Given the description of an element on the screen output the (x, y) to click on. 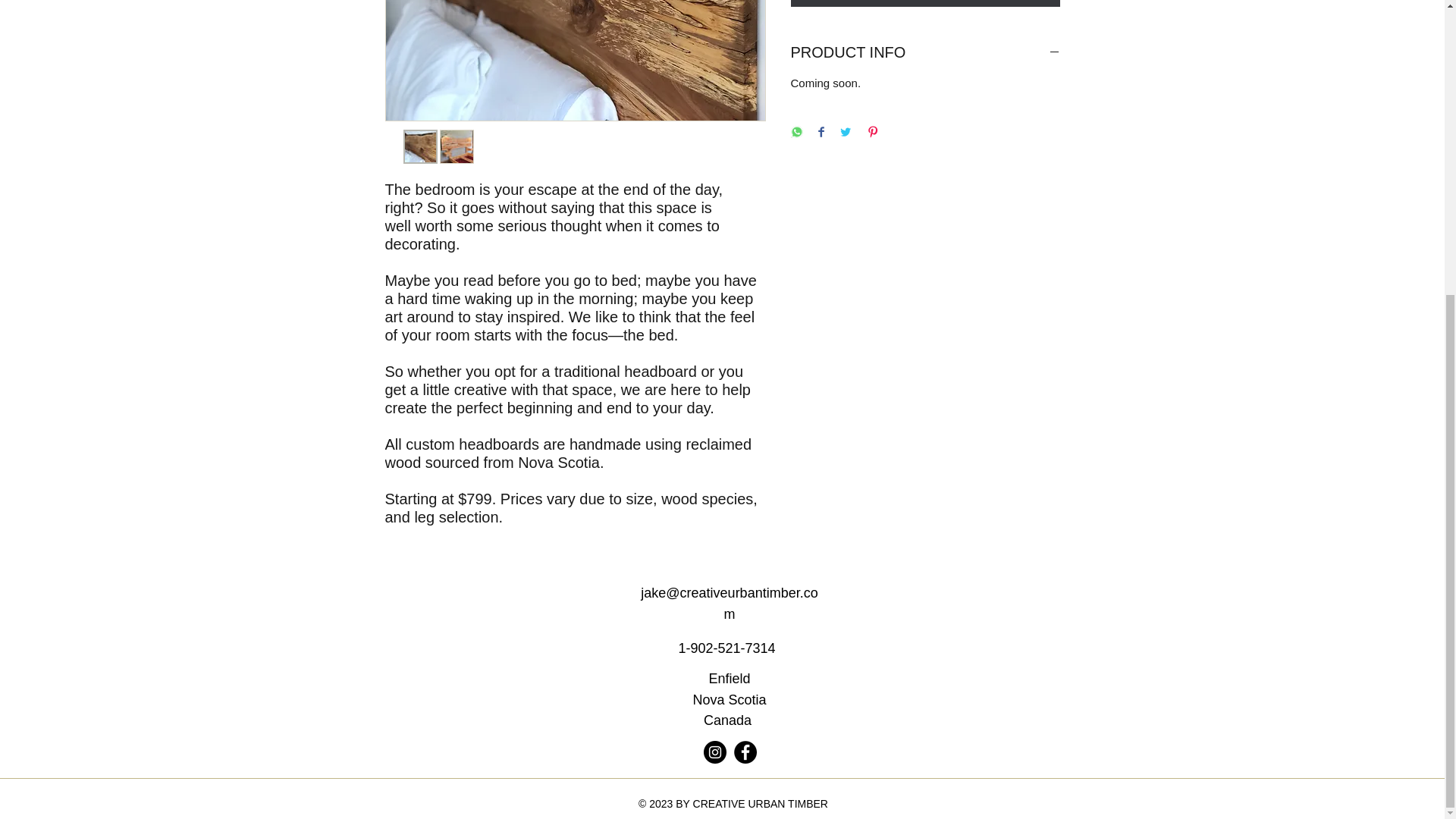
PRODUCT INFO (924, 52)
Add to Cart (924, 3)
1-902-521-7314 (726, 648)
